Given the description of an element on the screen output the (x, y) to click on. 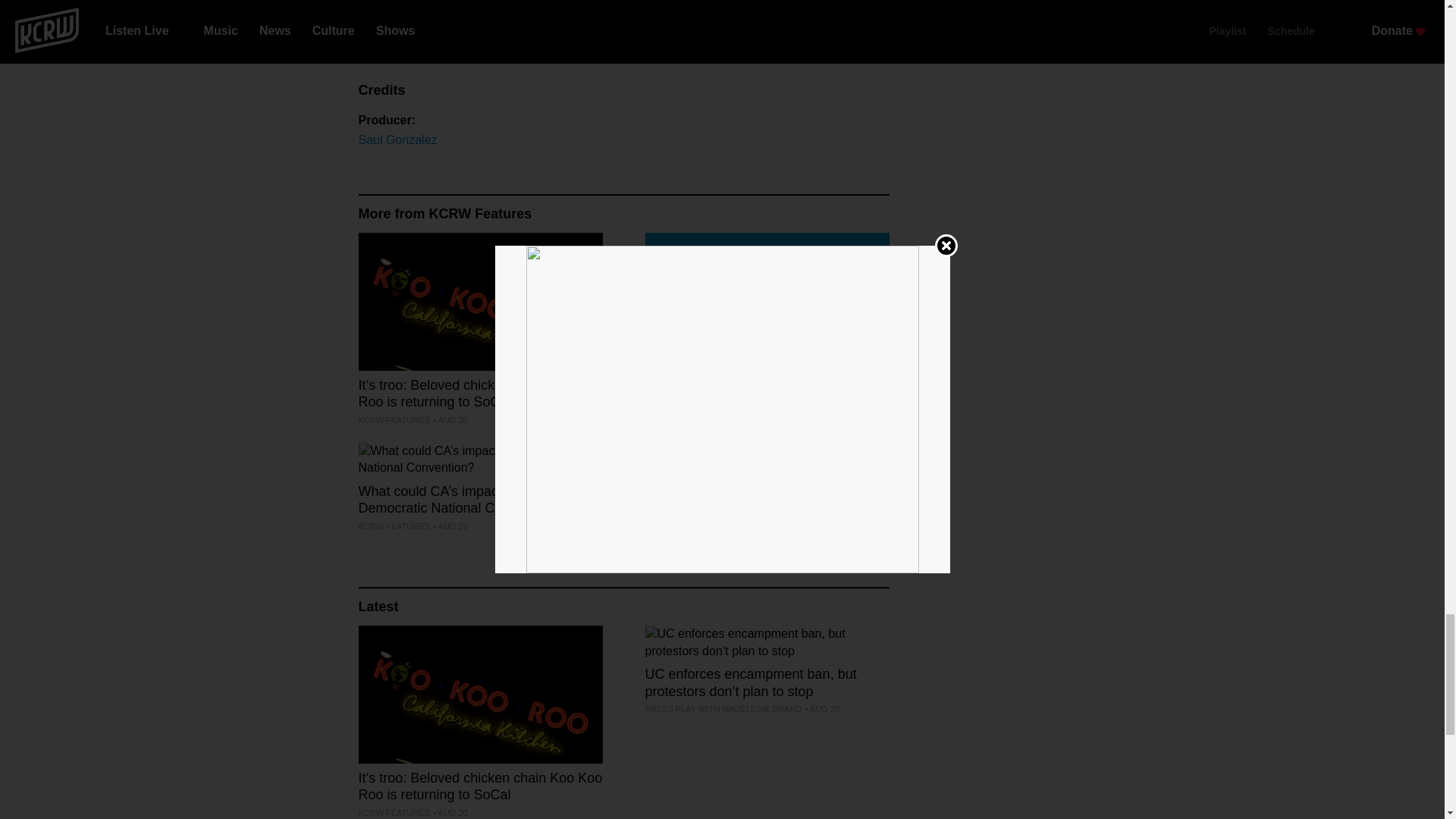
Download our App (450, 26)
Donate to KCRW (448, 6)
Saul Gonzalez (397, 139)
